Given the description of an element on the screen output the (x, y) to click on. 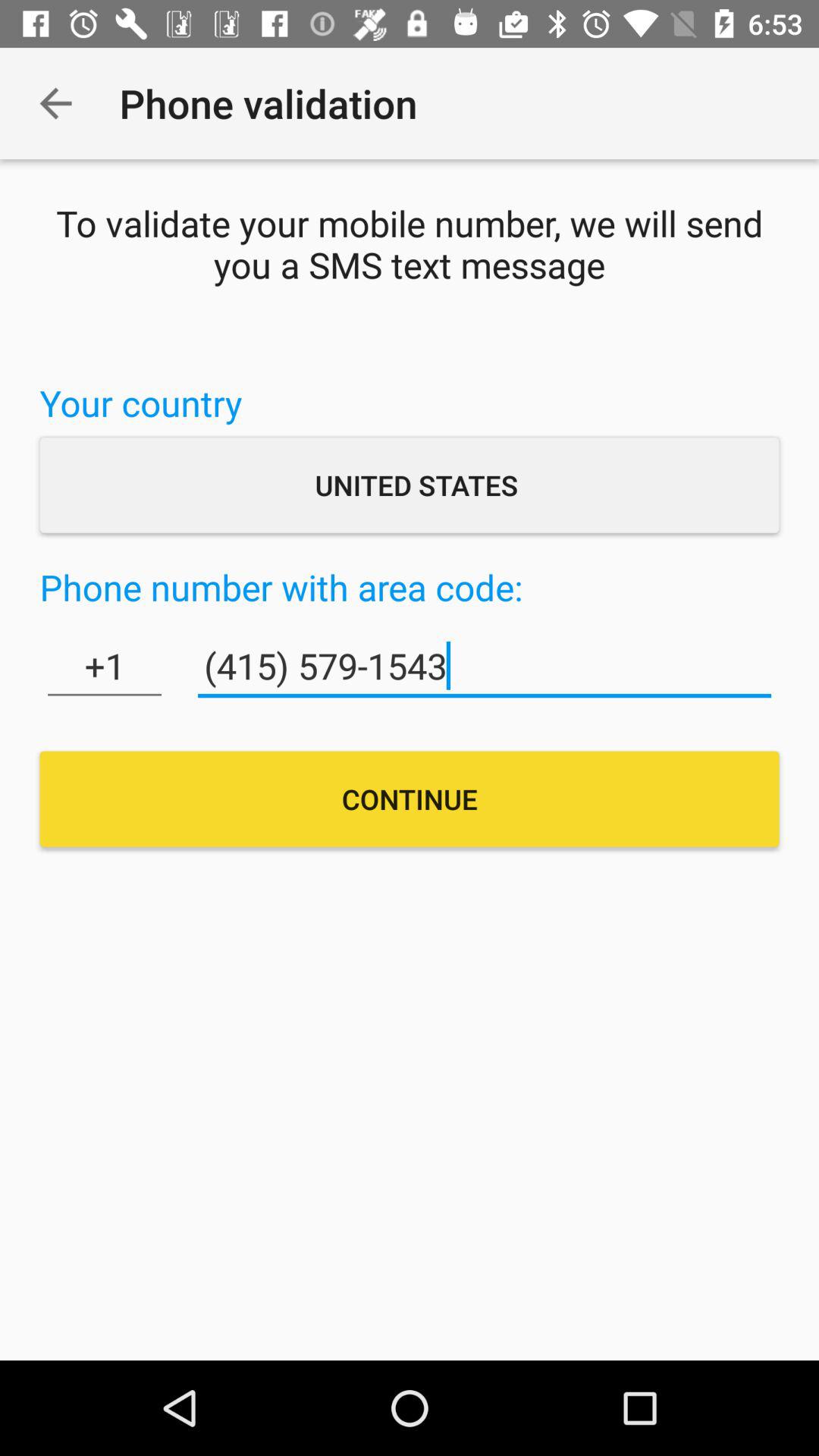
tap the item above the continue icon (104, 666)
